Given the description of an element on the screen output the (x, y) to click on. 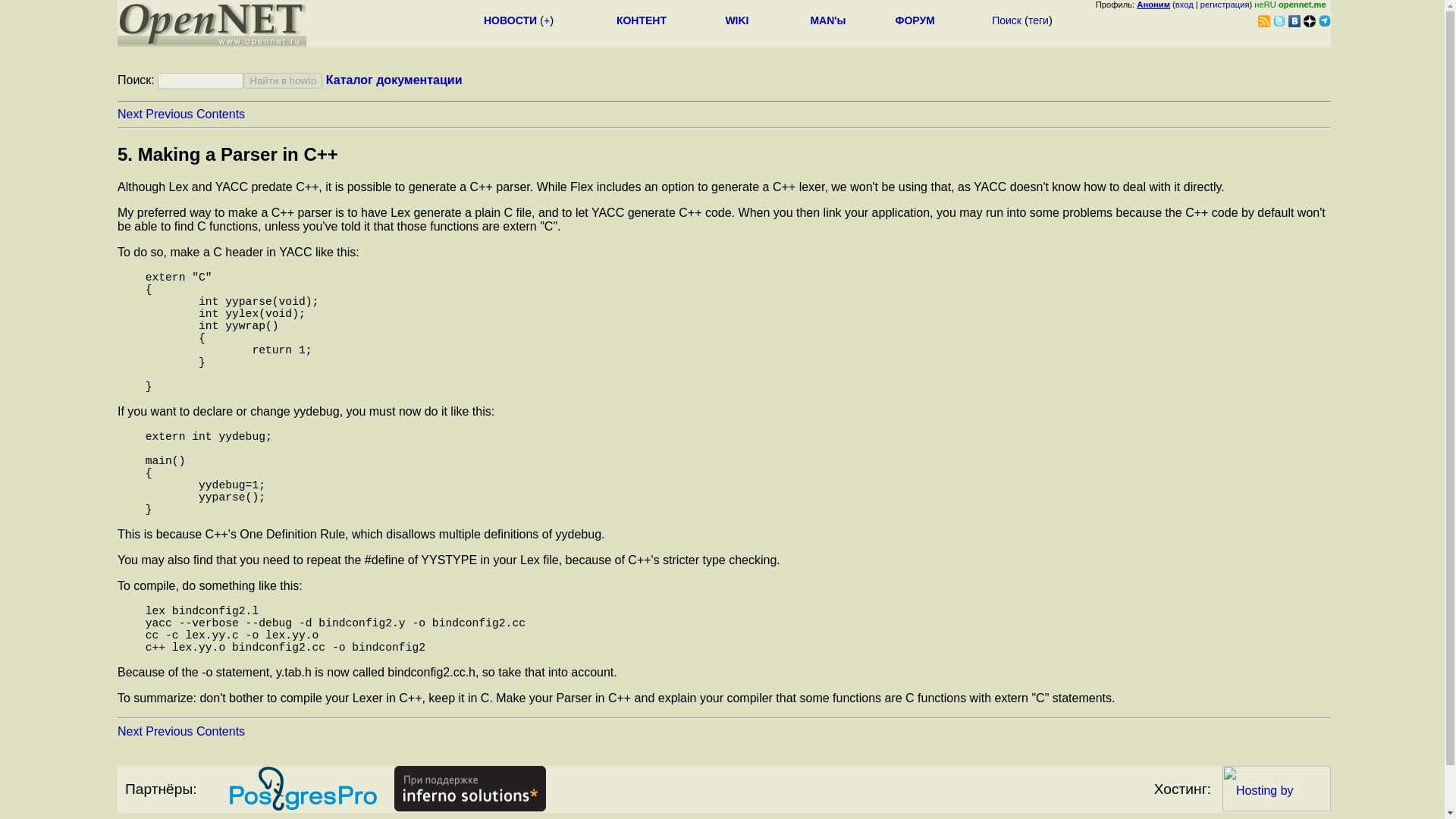
Previous (168, 113)
RSS (1263, 21)
Next (129, 730)
Next (129, 113)
Twitter (1278, 21)
Previous (168, 730)
Telegram (1324, 21)
WIKI (736, 20)
Contents (220, 730)
Contents (220, 113)
Yandex Zen (1309, 21)
